Given the description of an element on the screen output the (x, y) to click on. 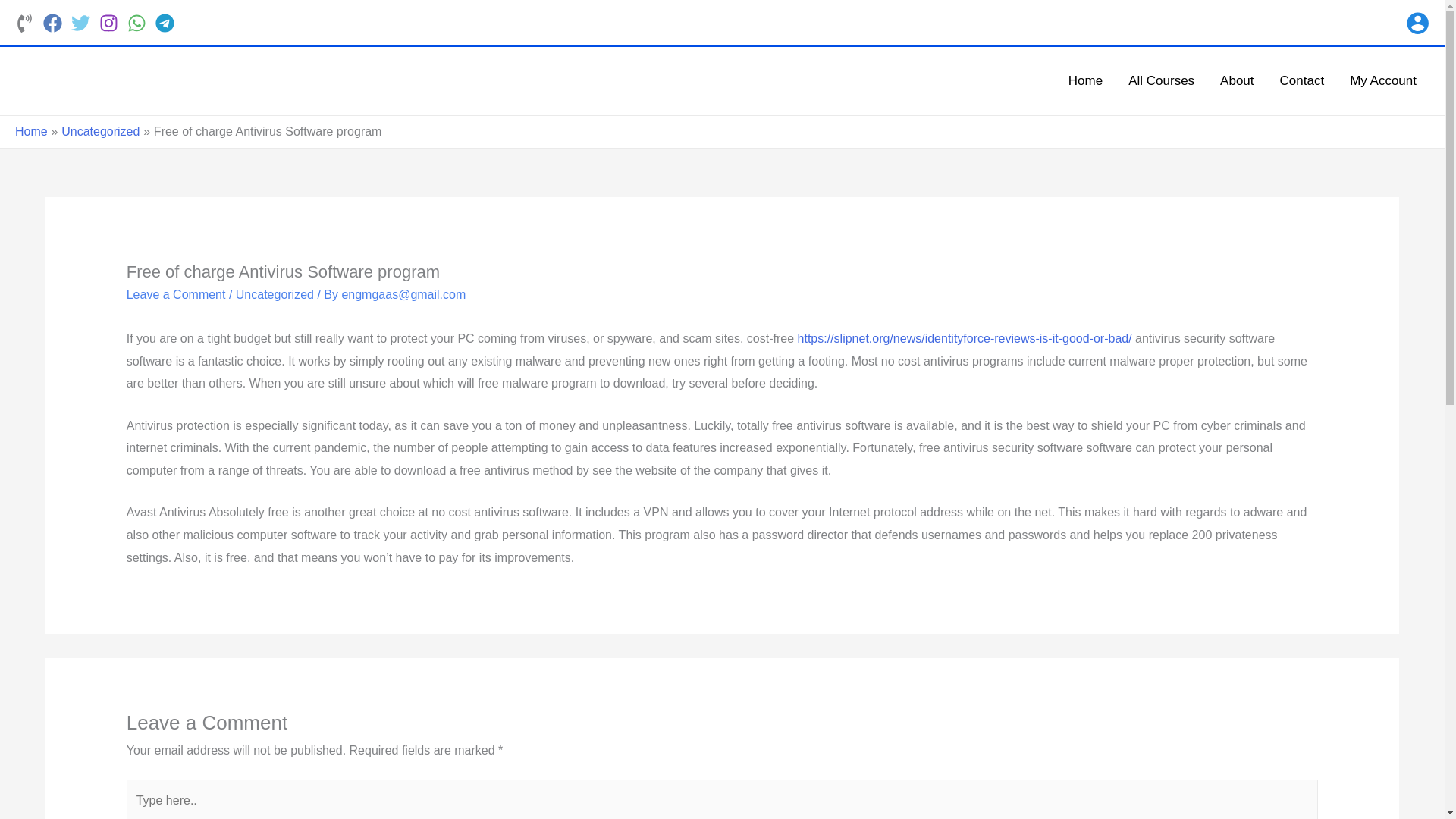
About (1236, 80)
Contact (1302, 80)
My Account (1382, 80)
Log In (689, 644)
Home (1085, 80)
All Courses (1161, 80)
